Given the description of an element on the screen output the (x, y) to click on. 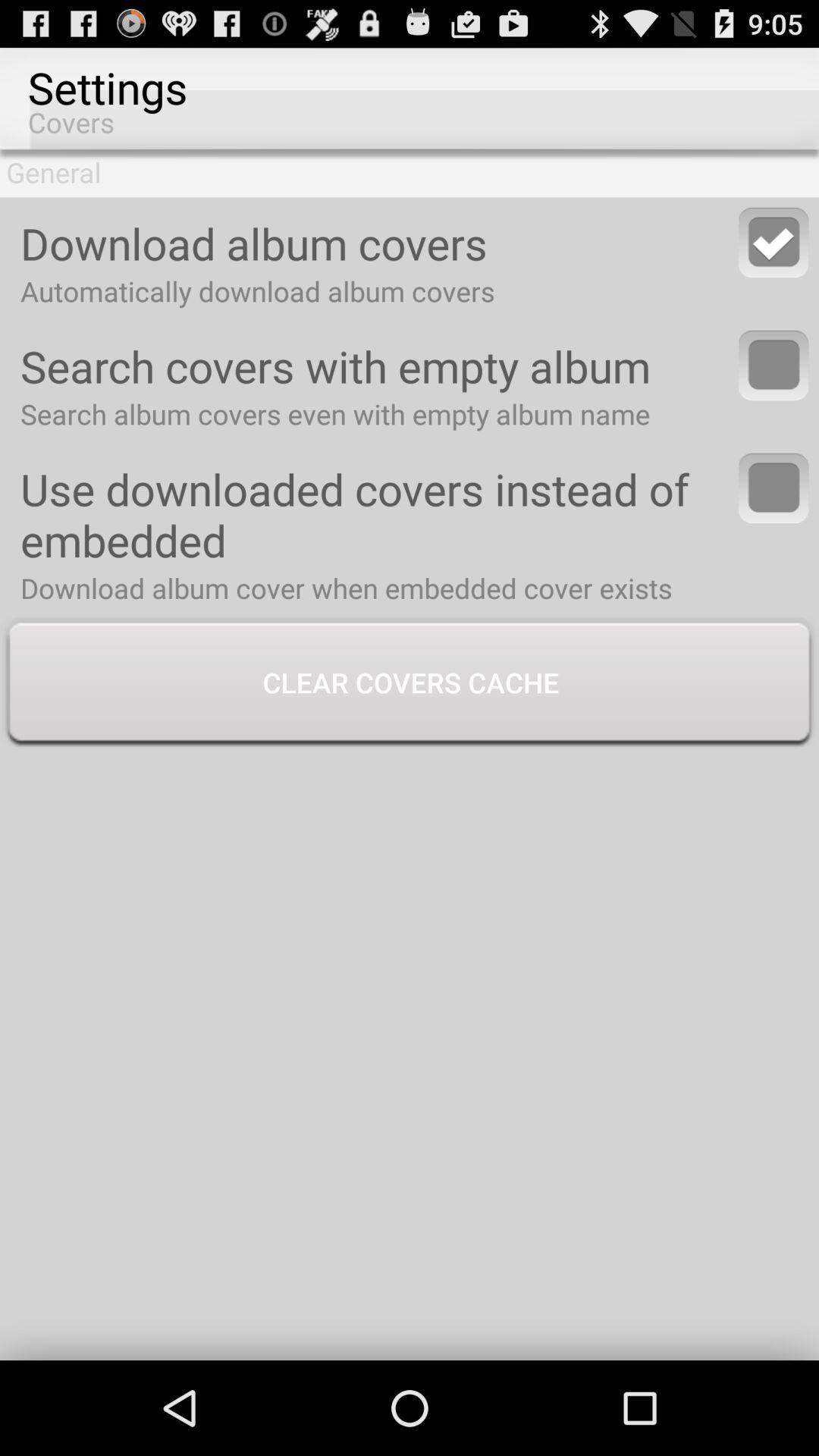
toggle covers with empty album (773, 365)
